Given the description of an element on the screen output the (x, y) to click on. 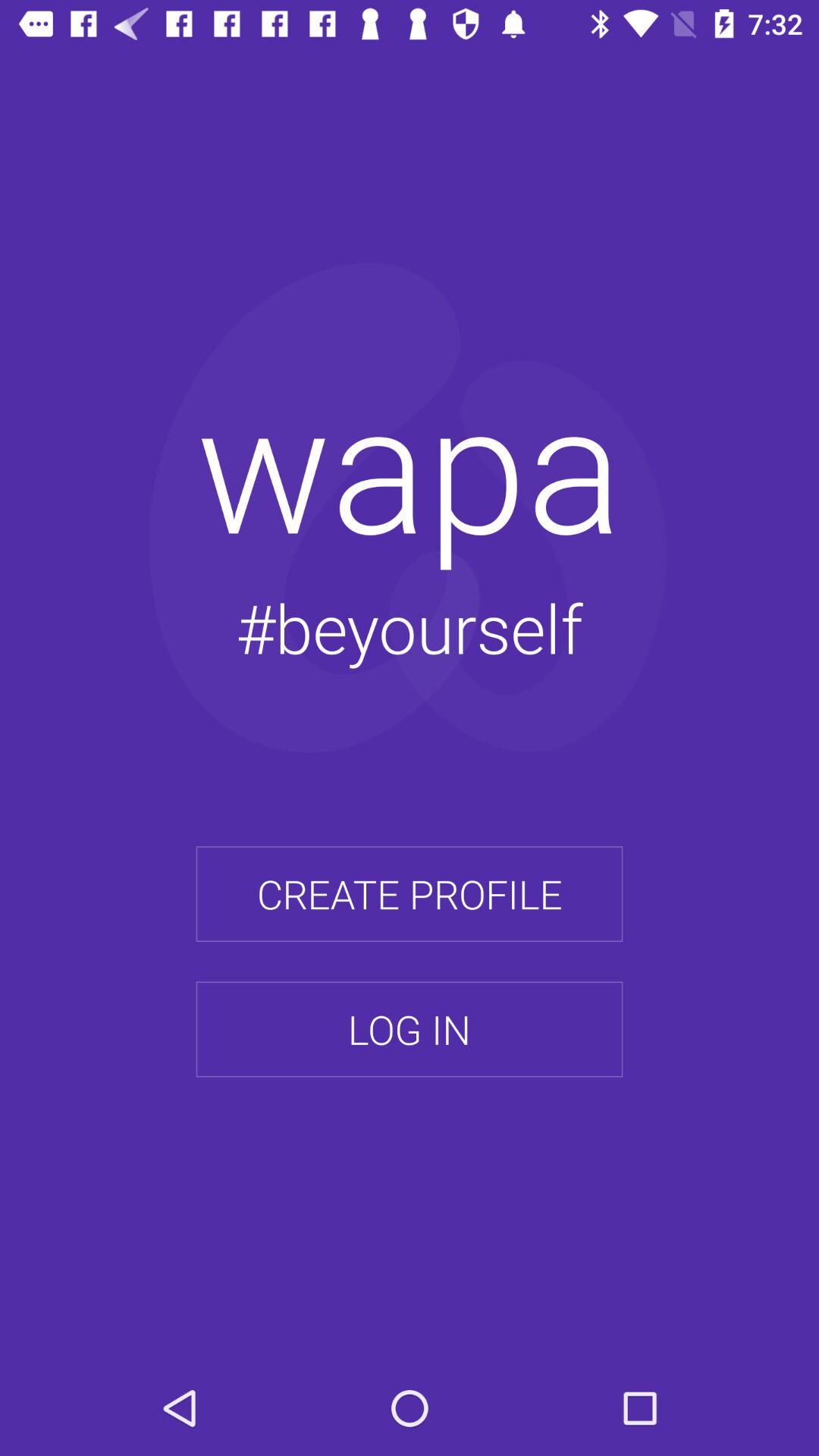
swipe until the create profile item (409, 893)
